Given the description of an element on the screen output the (x, y) to click on. 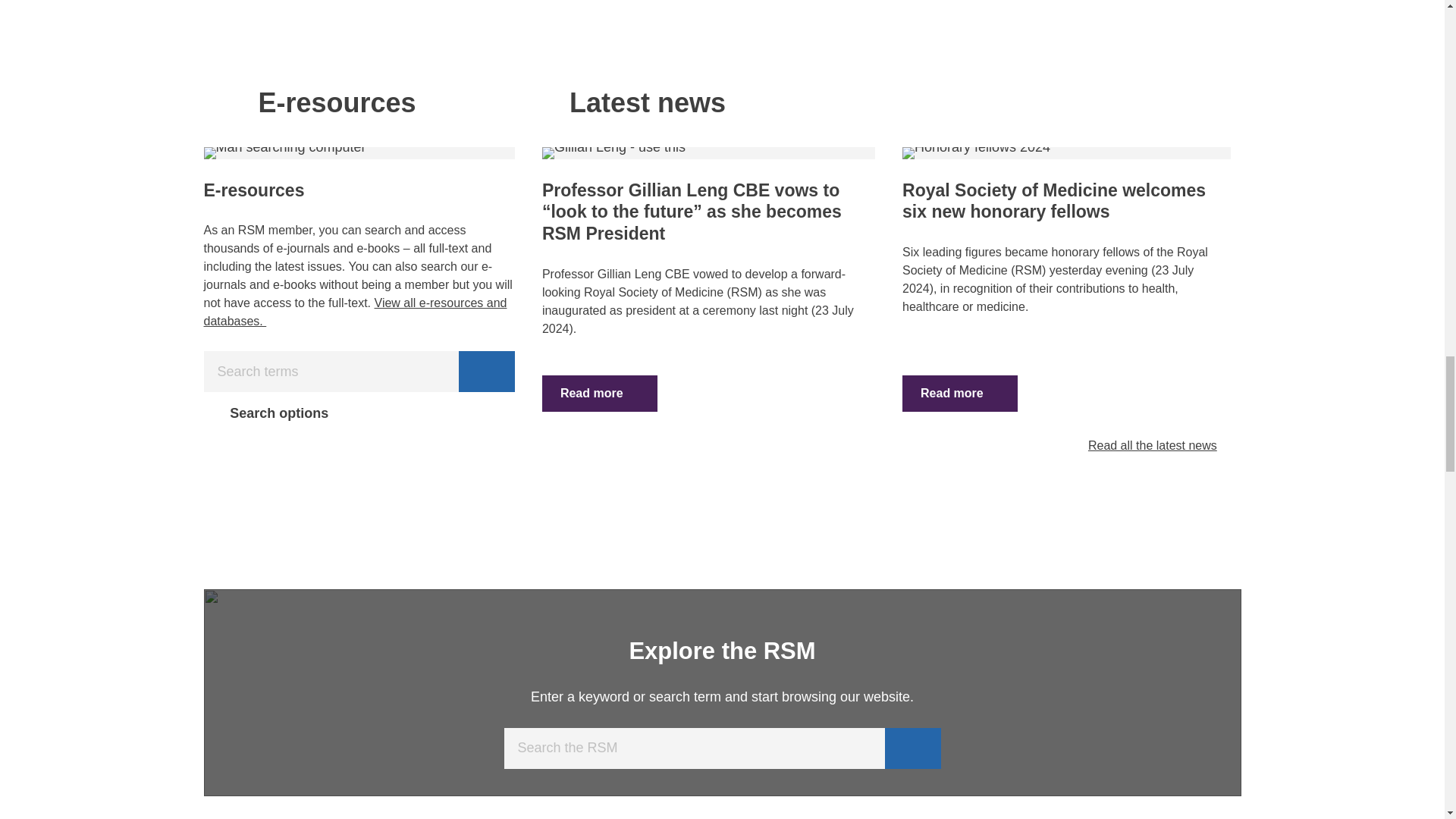
Search the e-resources (354, 311)
